Given the description of an element on the screen output the (x, y) to click on. 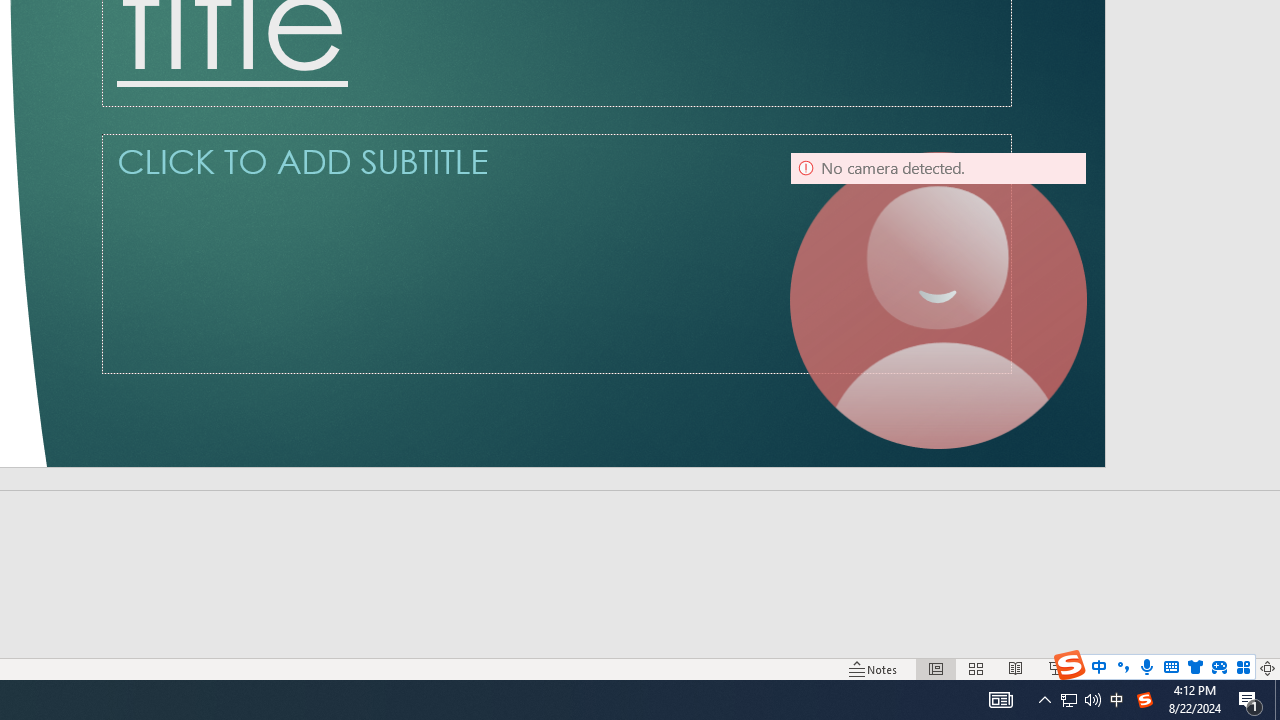
Zoom 140% (1234, 668)
